Given the description of an element on the screen output the (x, y) to click on. 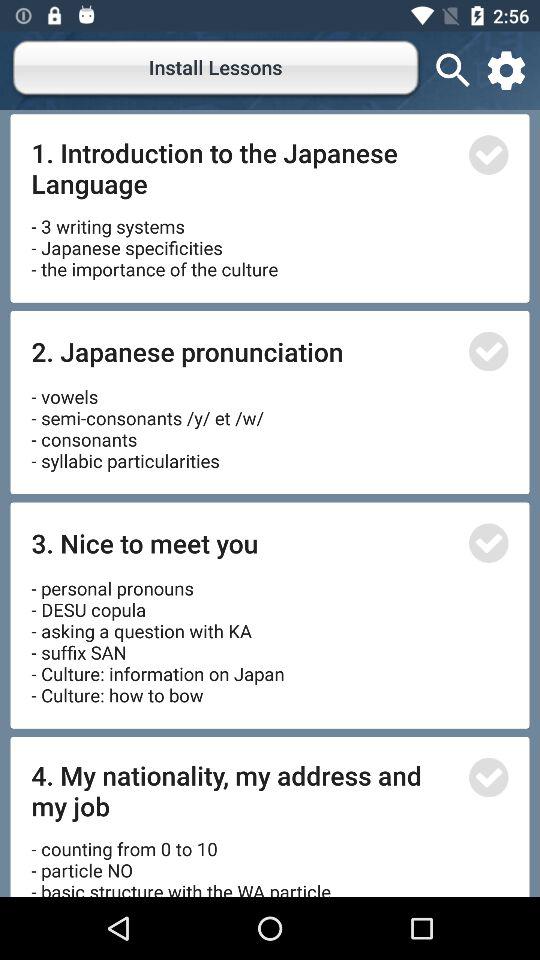
press install lessons (216, 70)
